Given the description of an element on the screen output the (x, y) to click on. 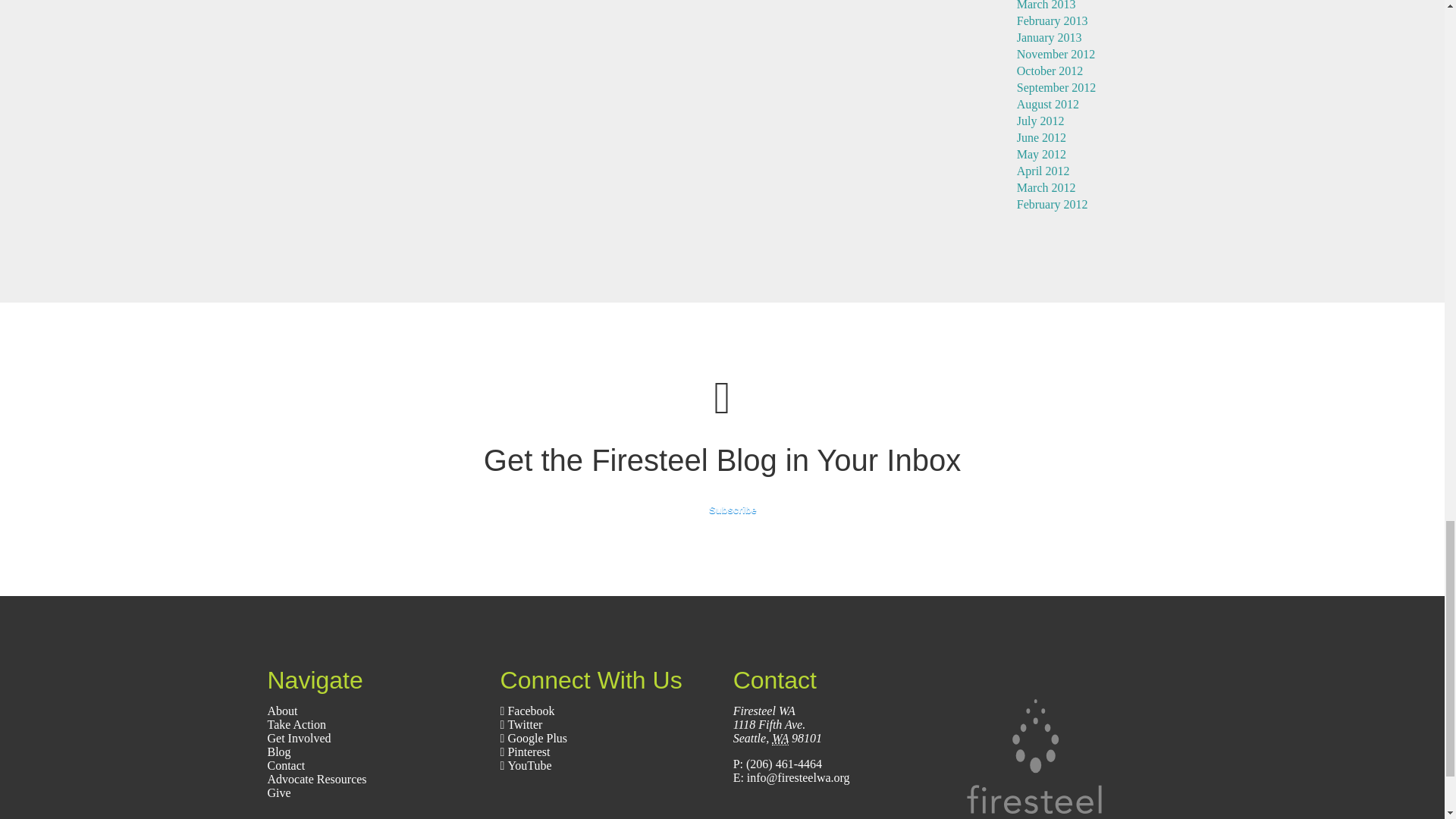
Preview (721, 510)
Washington (780, 738)
